Given the description of an element on the screen output the (x, y) to click on. 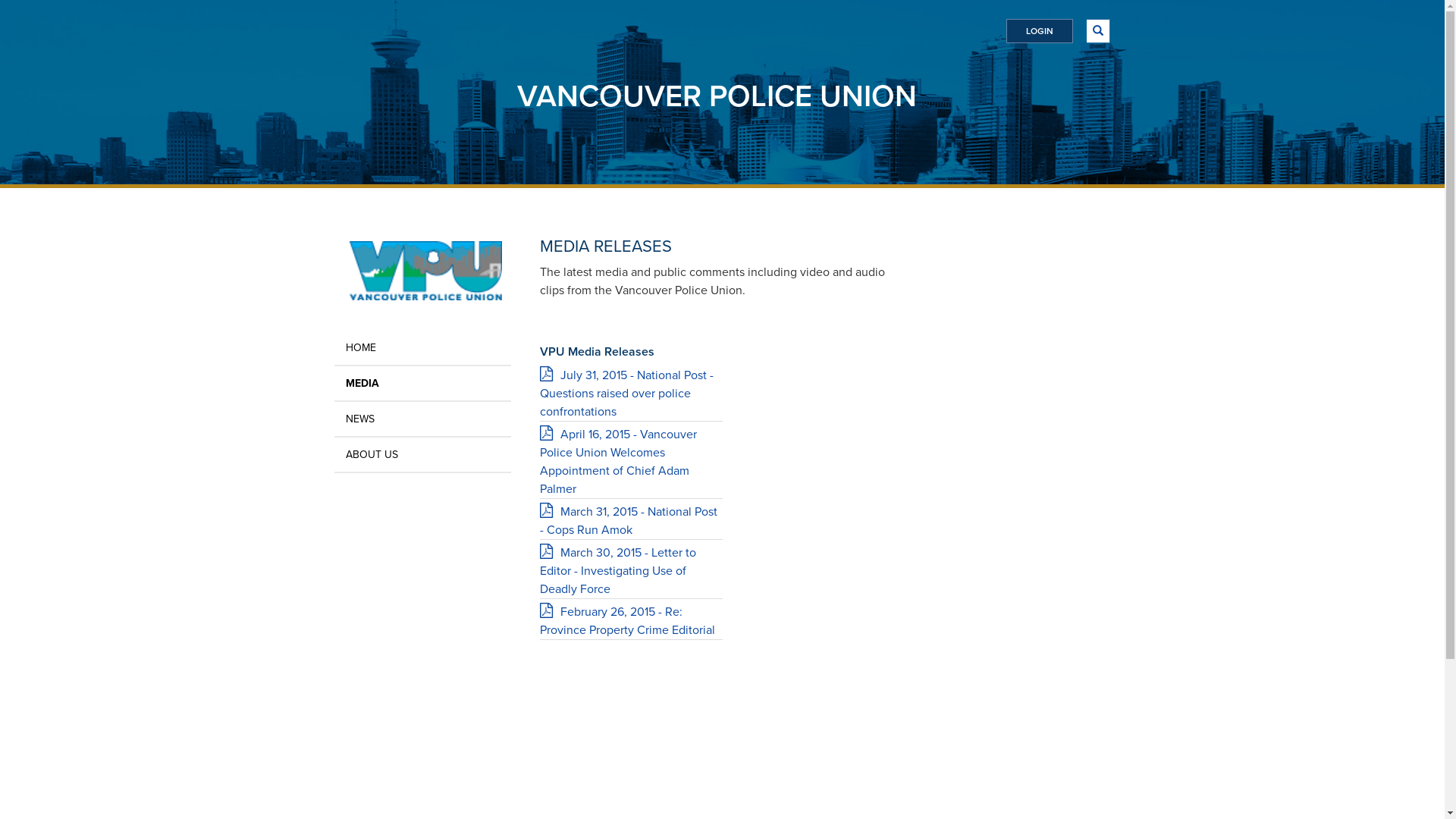
March 31, 2015 - National Post - Cops Run Amok Element type: text (630, 520)
VANCOUVER POLICE UNION Element type: text (716, 94)
HOME Element type: text (422, 347)
ABOUT US Element type: text (422, 454)
LOGIN Element type: text (1038, 30)
NEWS Element type: text (422, 418)
Search Element type: text (886, 43)
MEDIA Element type: text (422, 383)
February 26, 2015 - Re: Province Property Crime Editorial Element type: text (630, 620)
Skip to main content Element type: text (0, 0)
